Given the description of an element on the screen output the (x, y) to click on. 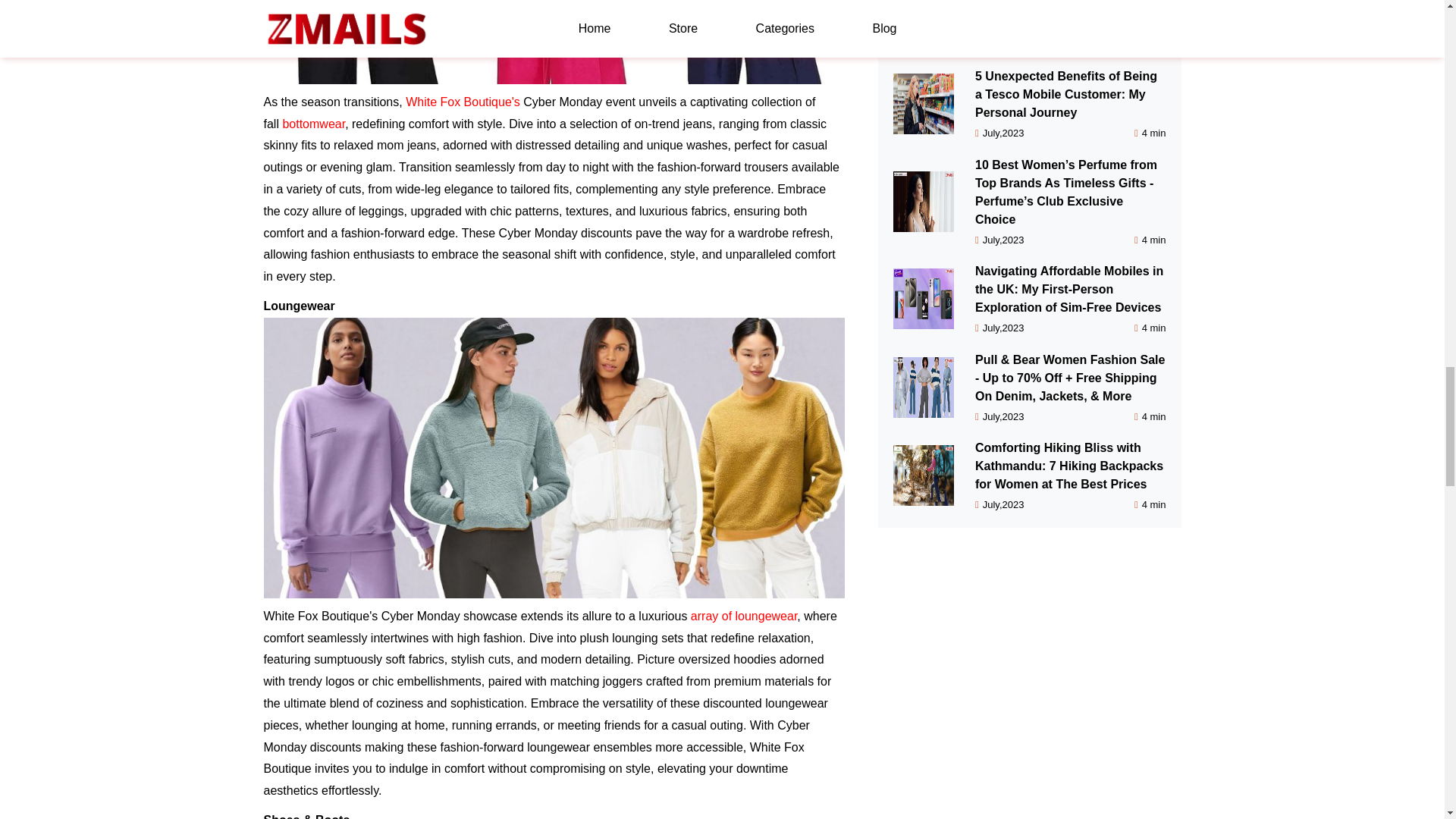
bottomwear (313, 123)
array of loungewear (743, 615)
White Fox Boutique's (462, 101)
